Given the description of an element on the screen output the (x, y) to click on. 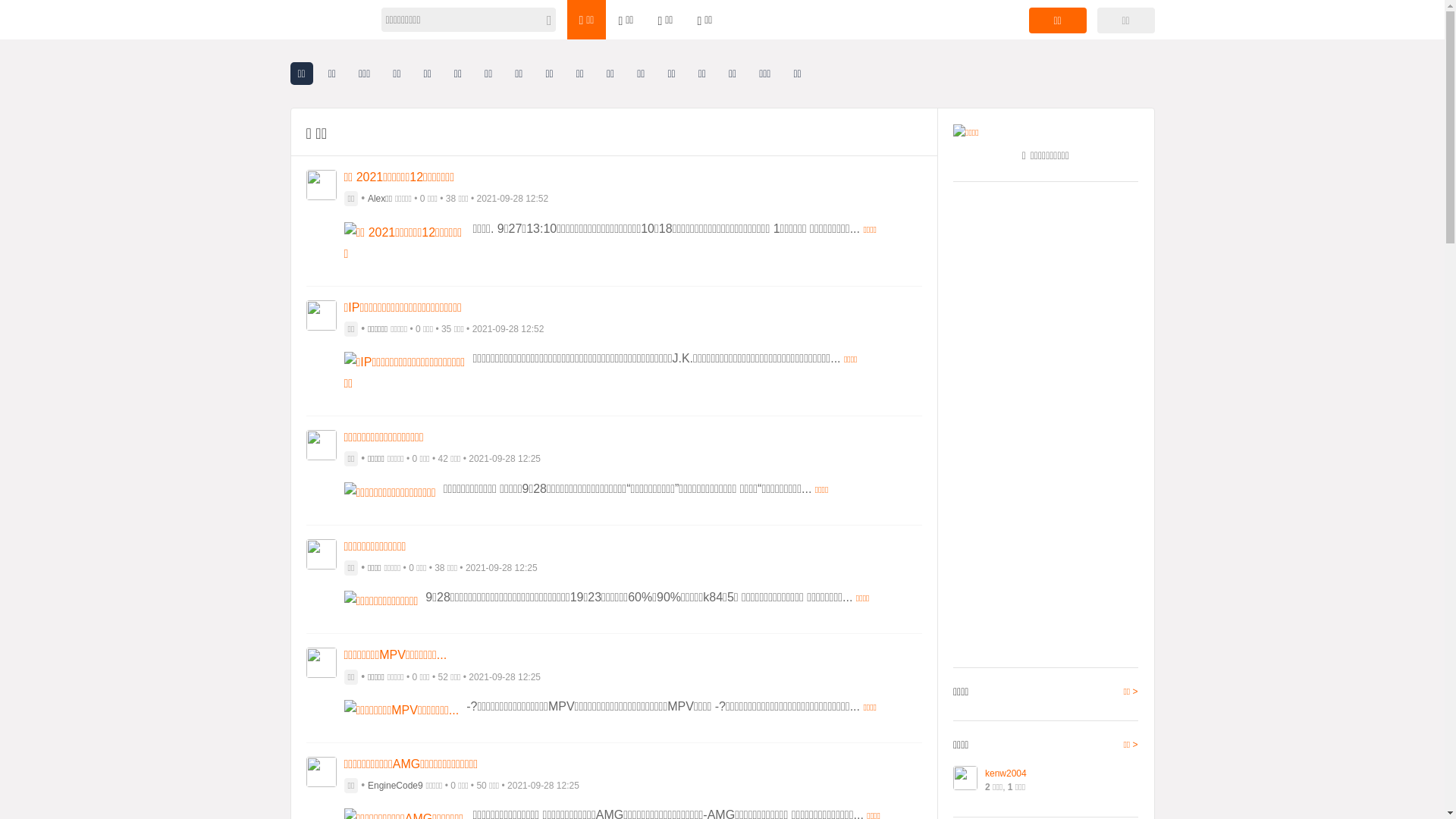
EngineCode9 Element type: text (395, 785)
kenw2004 Element type: text (1005, 773)
